Given the description of an element on the screen output the (x, y) to click on. 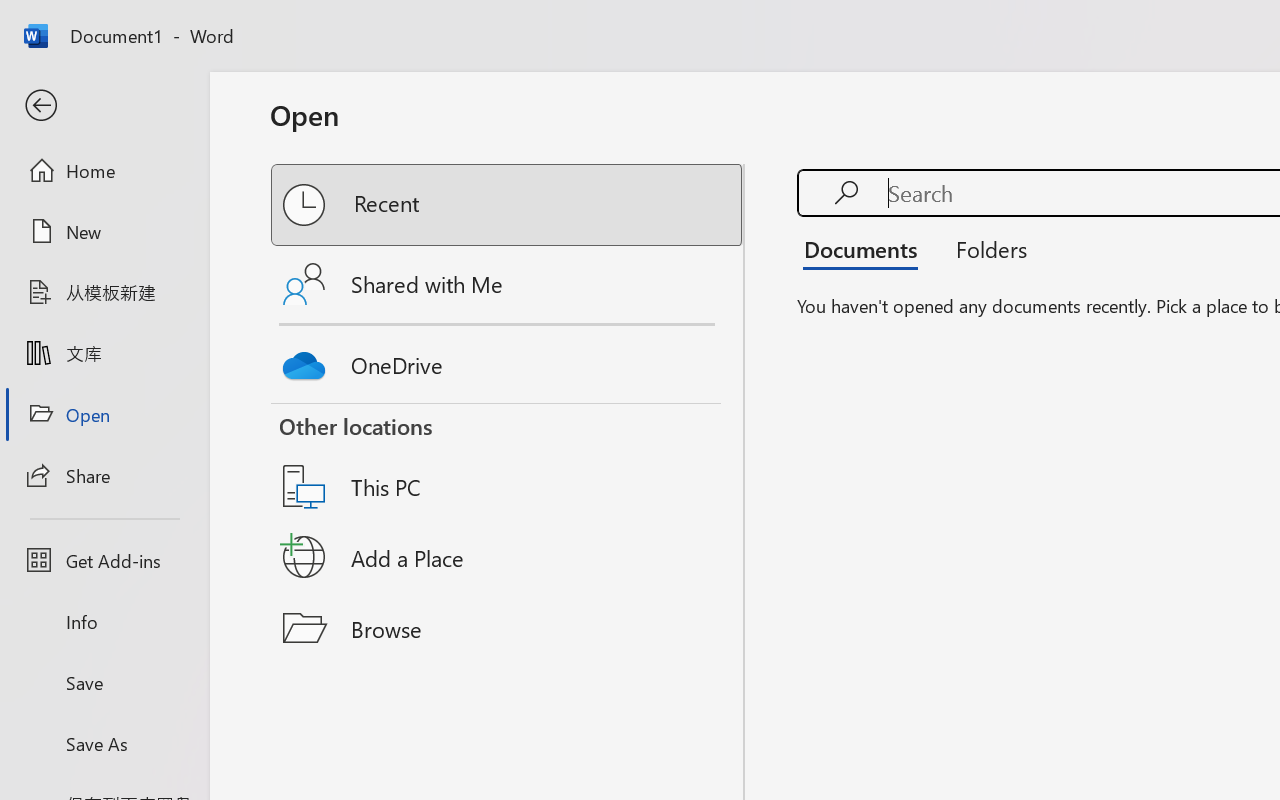
Recent (507, 205)
OneDrive (507, 359)
Documents (866, 248)
Folders (984, 248)
This PC (507, 461)
